Given the description of an element on the screen output the (x, y) to click on. 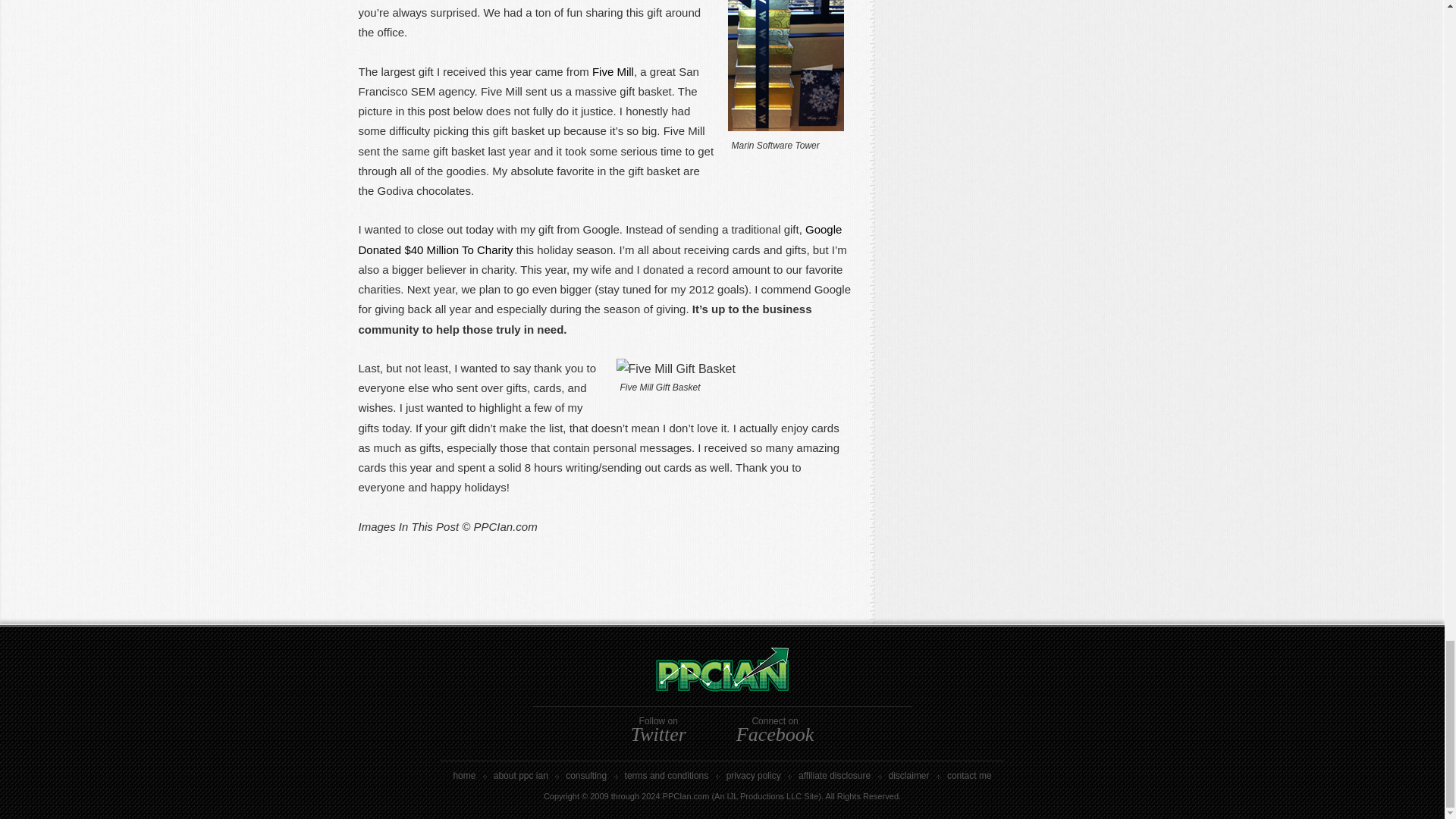
Five Mill Gift Basket (675, 369)
Five Mill (612, 71)
PPC Ian (722, 685)
